Given the description of an element on the screen output the (x, y) to click on. 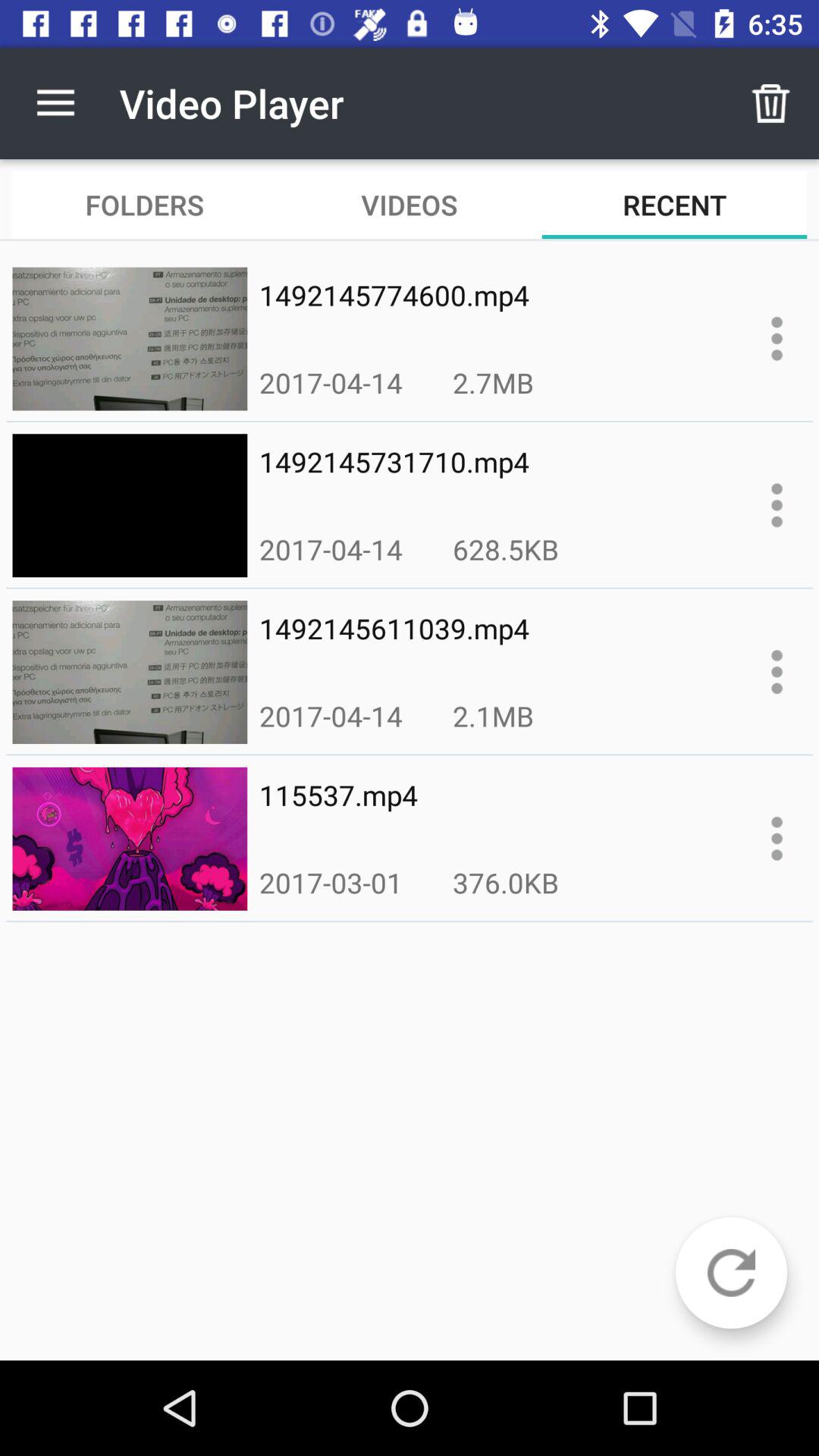
refresh (731, 1272)
